Given the description of an element on the screen output the (x, y) to click on. 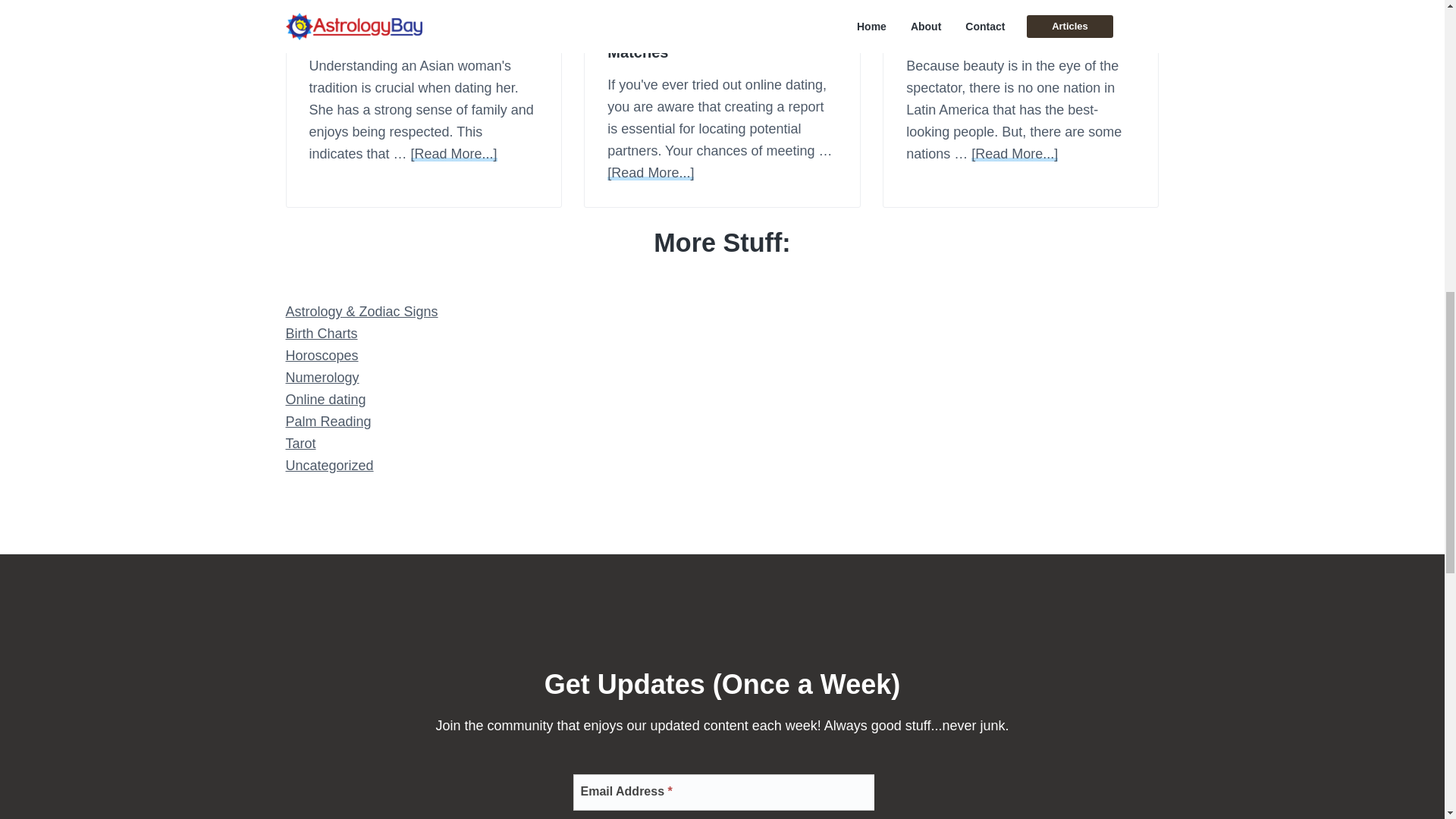
Tarot (300, 443)
Palm Reading (328, 421)
Online dating (325, 399)
Horoscopes (321, 355)
Uncategorized (328, 465)
Numerology (321, 377)
What Can I Do to Create an Asian Woman Feel Loved? (423, 23)
Birth Charts (320, 333)
